Given the description of an element on the screen output the (x, y) to click on. 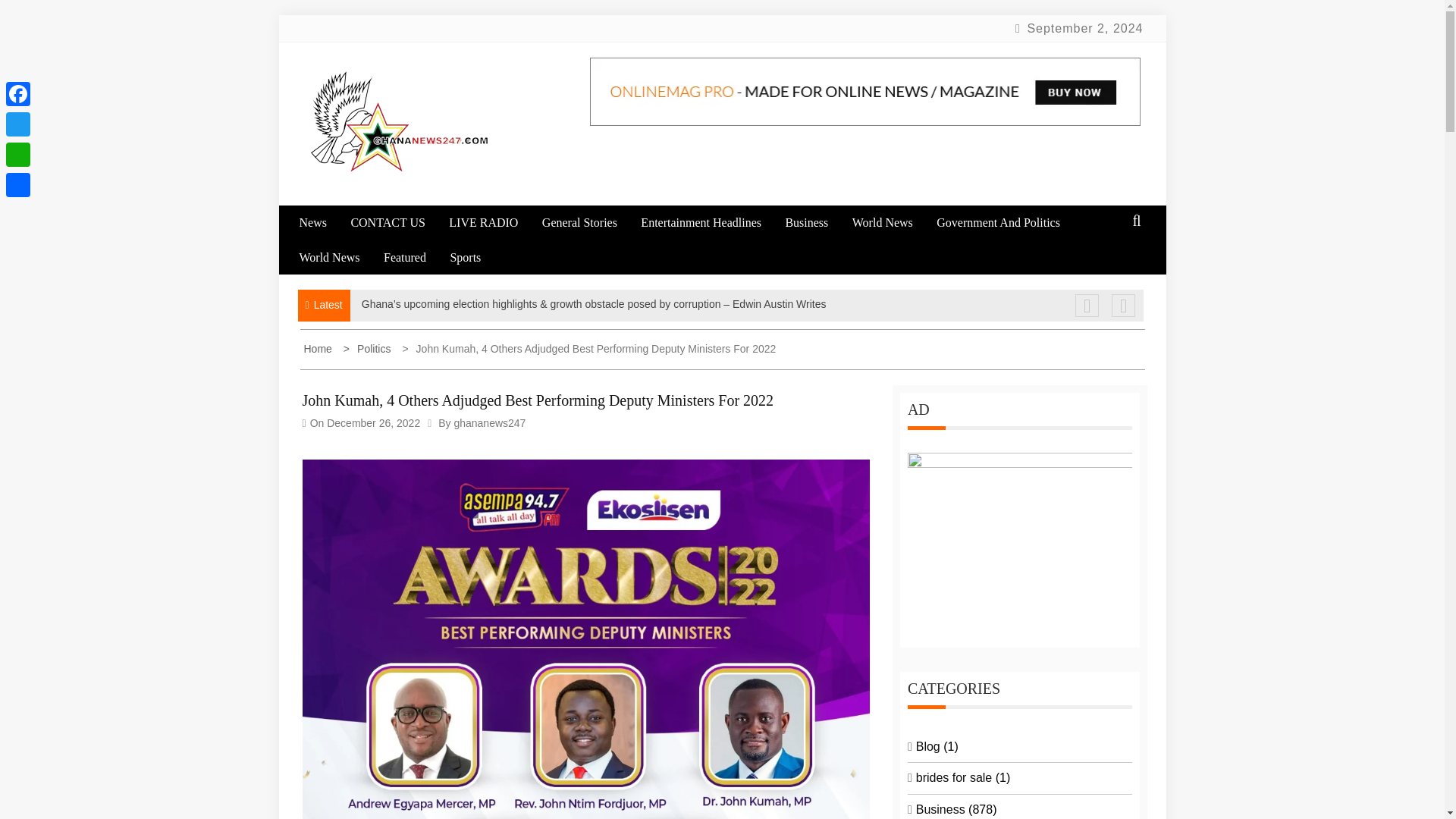
Ghananews247 (413, 204)
LIVE RADIO (493, 222)
Featured (415, 257)
ghananews247 (488, 422)
General Stories (589, 222)
News (322, 222)
World News (339, 257)
Business (816, 222)
Entertainment Headlines (710, 222)
